Given the description of an element on the screen output the (x, y) to click on. 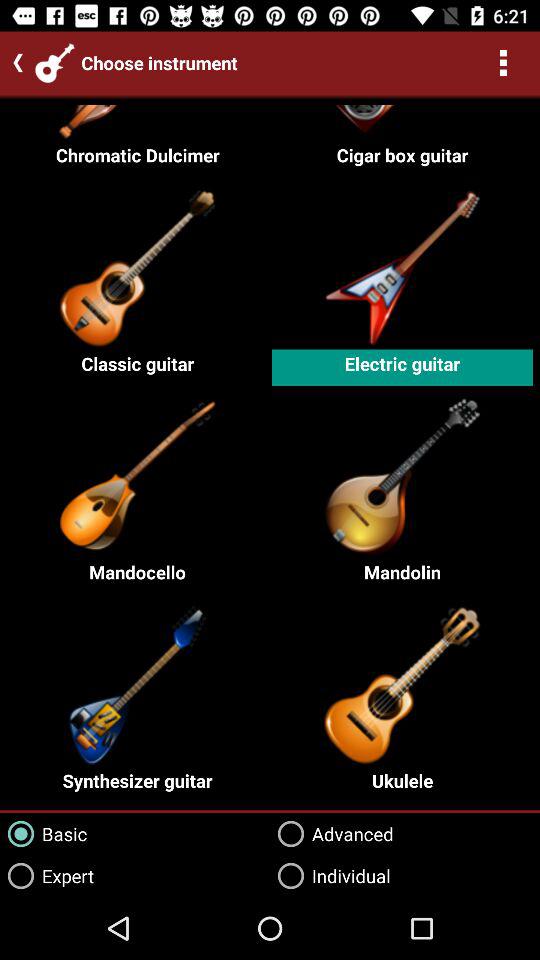
scroll until the advanced icon (331, 834)
